Given the description of an element on the screen output the (x, y) to click on. 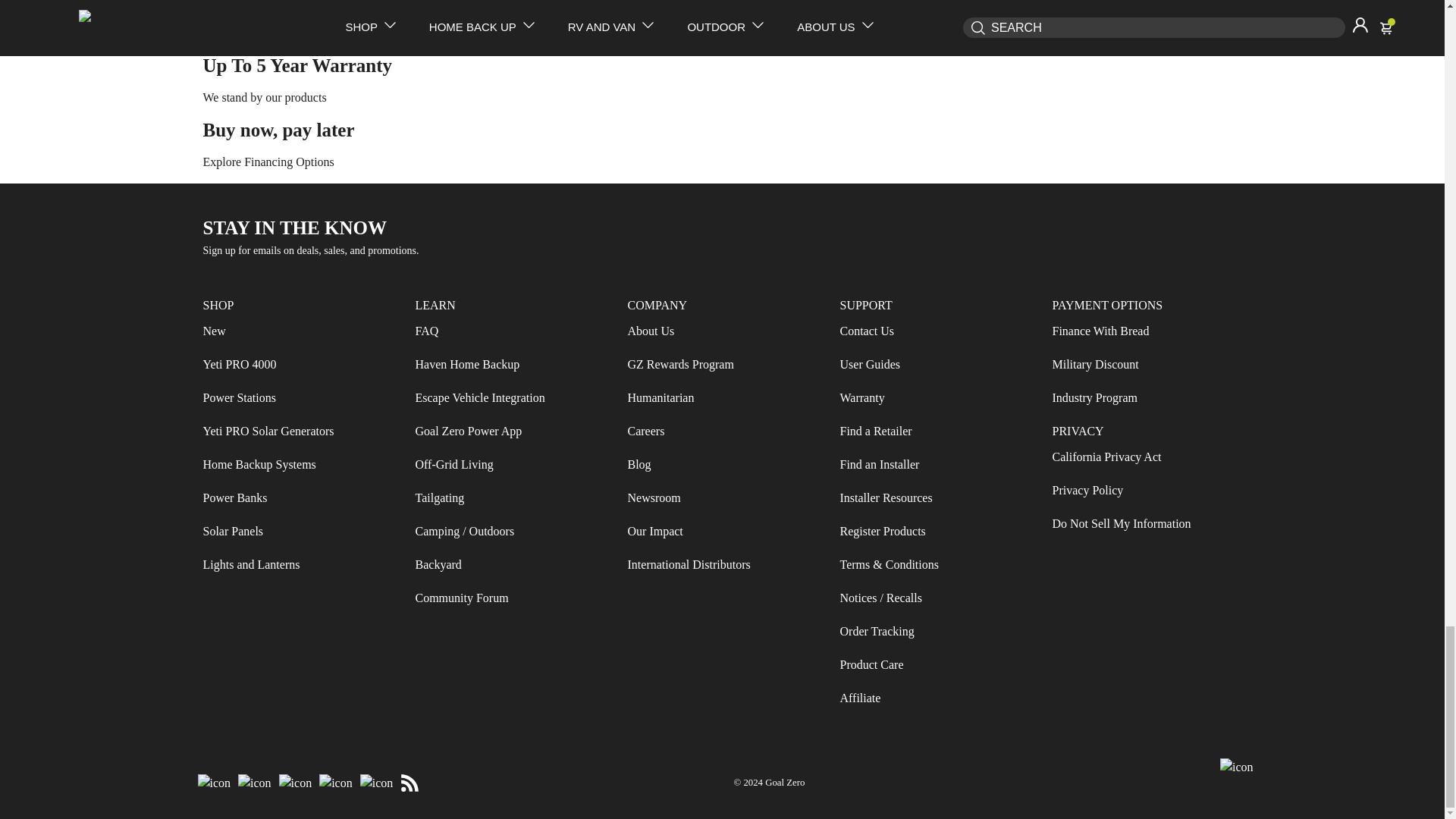
Goal Zero on Facebook (213, 782)
Goal Zero on Pinterest (377, 782)
Goal Zero on YouTube (336, 782)
Goal Zero on Instagram (254, 782)
Goal Zero on Twitter (295, 782)
